Given the description of an element on the screen output the (x, y) to click on. 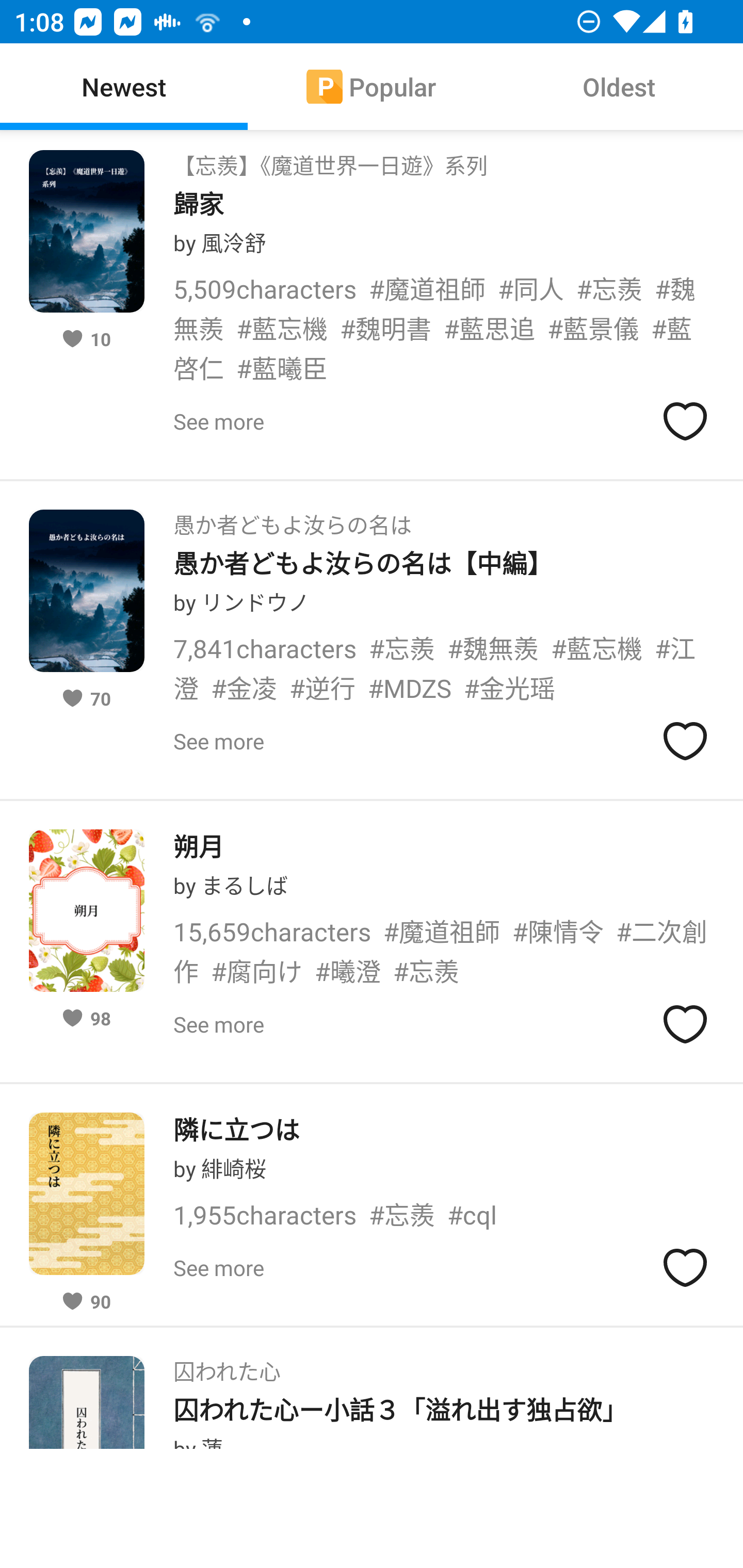
[P] Popular (371, 86)
Oldest (619, 86)
【忘羨】《魔道世界一日遊》系列 (330, 159)
愚か者どもよ汝らの名は (292, 518)
囚われた心 囚われた心ー小話３「溢れ出す独占欲」 by 蓮 (371, 1387)
囚われた心 (226, 1365)
